Given the description of an element on the screen output the (x, y) to click on. 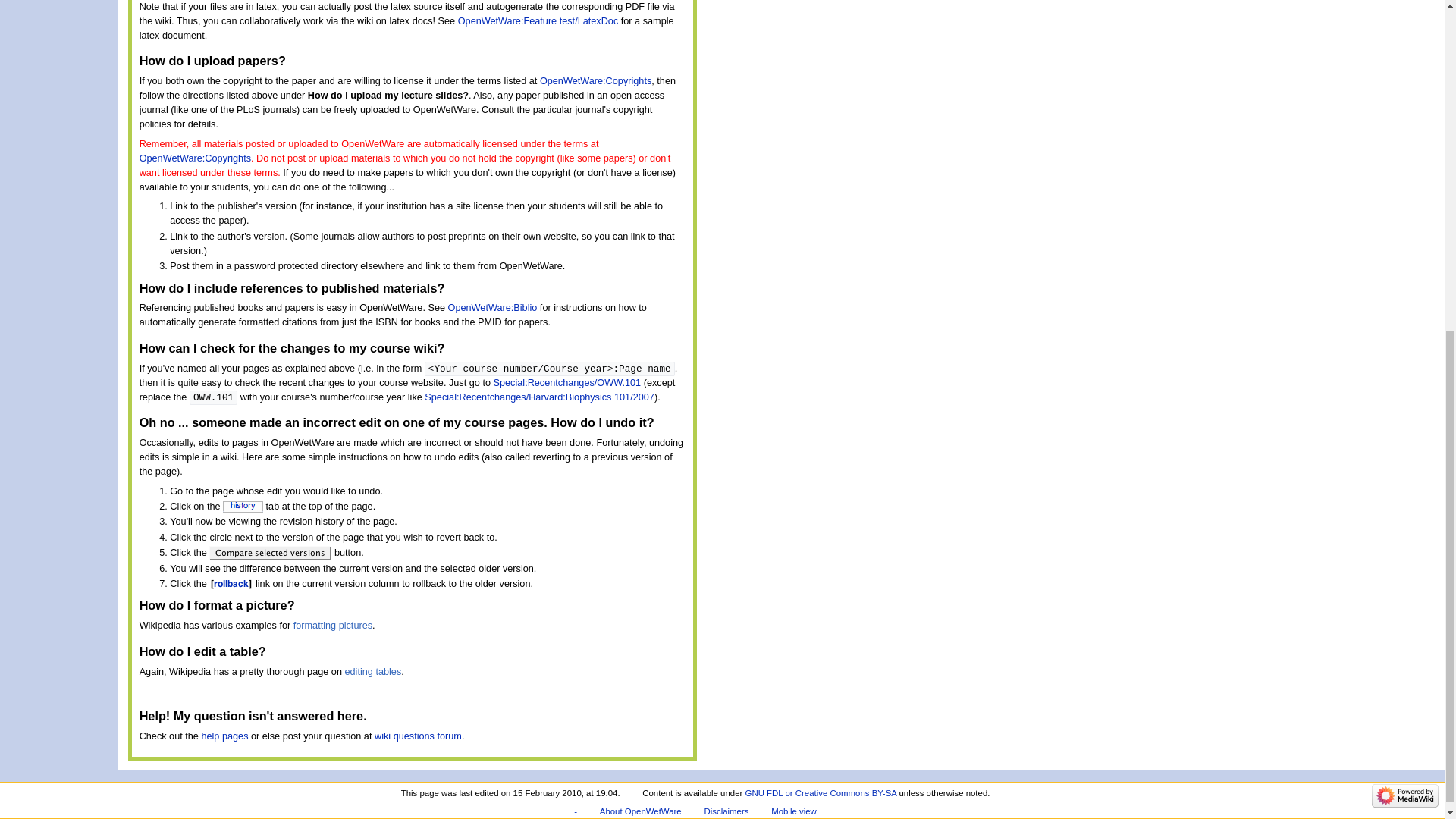
Help:Wiki questions (417, 736)
help pages (223, 736)
OpenWetWare:Copyrights (194, 158)
wikipedia:Wikipedia:Picture tutorial (333, 624)
wiki questions forum (417, 736)
OpenWetWare:Copyrights (595, 81)
OpenWetWare:Biblio (492, 307)
OpenWetWare:Biblio (492, 307)
metawikipedia:Table (372, 671)
formatting pictures (333, 624)
OpenWetWare:Copyrights (595, 81)
Help (223, 736)
editing tables (372, 671)
OpenWetWare:Copyrights (194, 158)
